Given the description of an element on the screen output the (x, y) to click on. 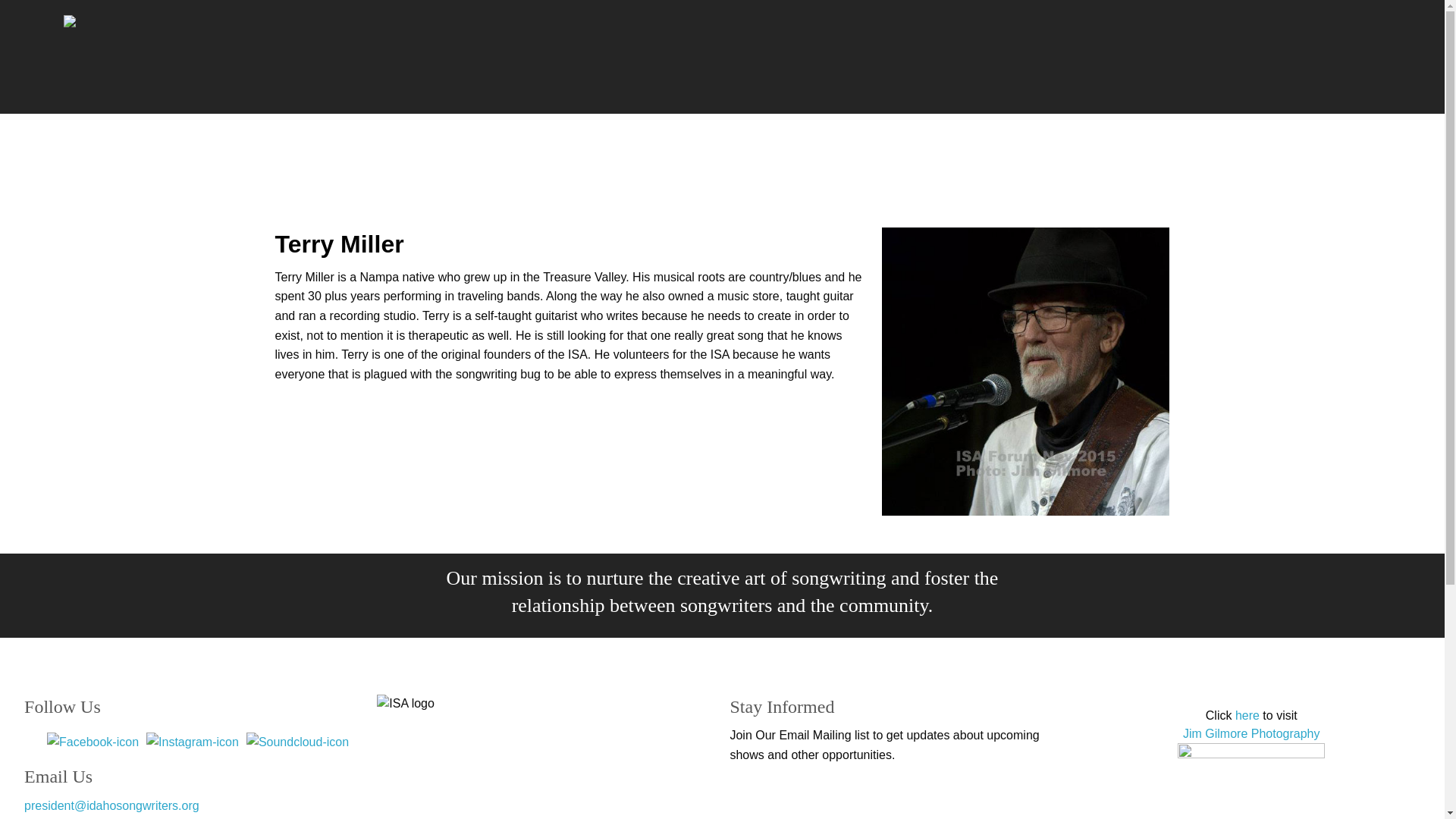
Facebook (92, 740)
here (1246, 715)
Jim Gilmore Photography (1251, 733)
Soundcloud (297, 740)
Instagram (192, 740)
